Given the description of an element on the screen output the (x, y) to click on. 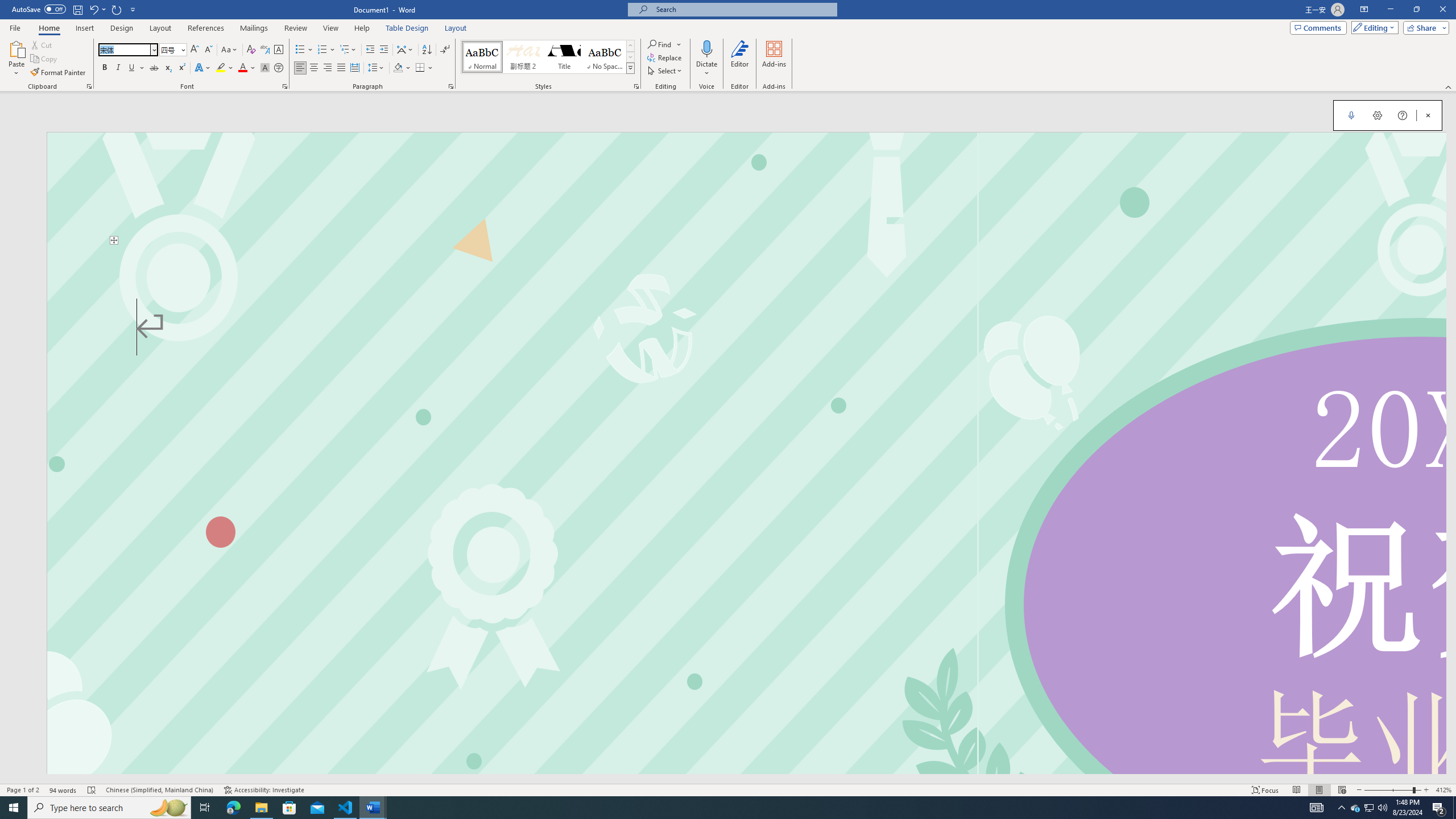
First Page Header -Section 1- (745, 187)
Start Dictation (1350, 115)
Page Number Page 1 of 2 (22, 790)
